Given the description of an element on the screen output the (x, y) to click on. 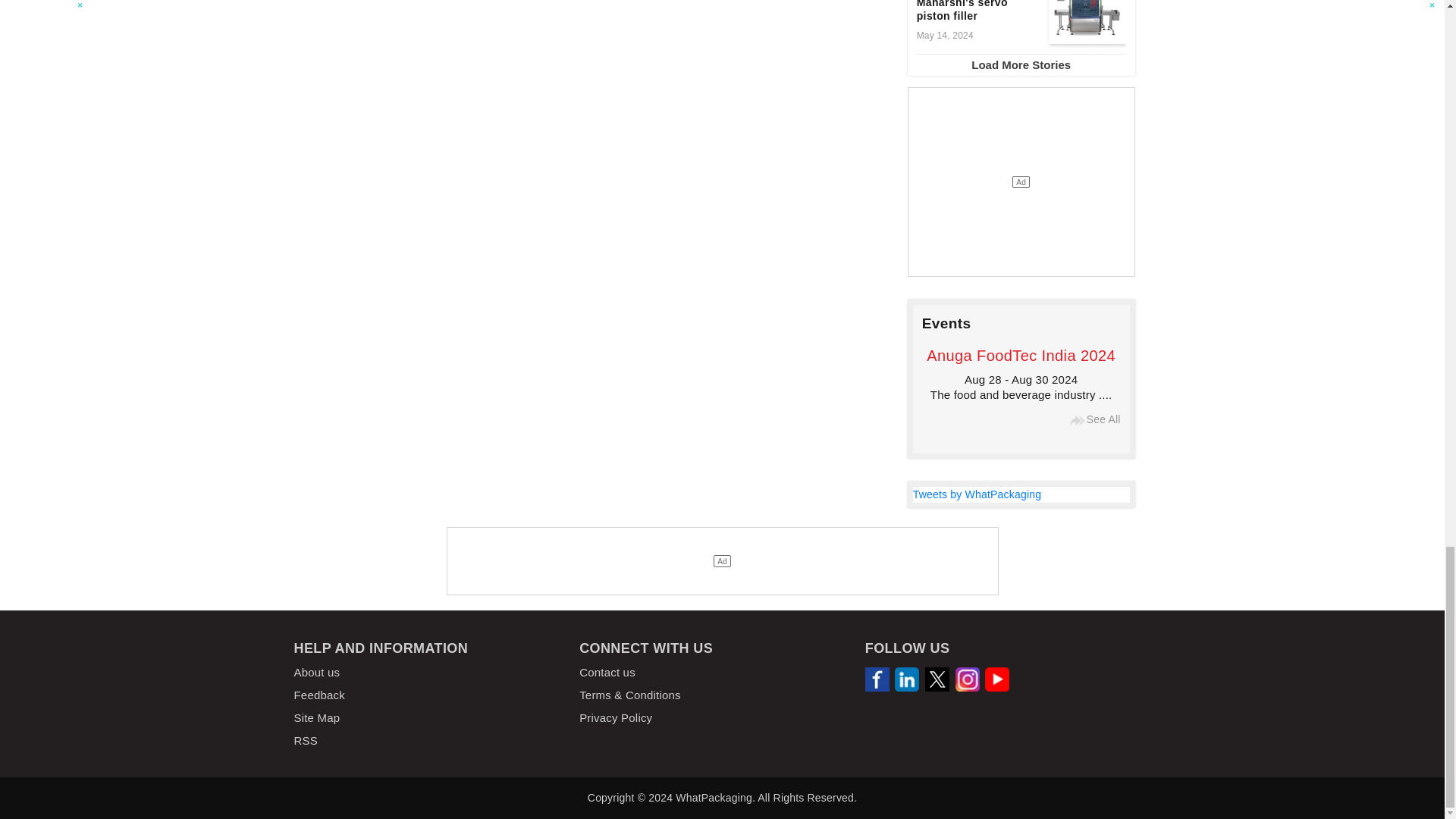
ProductWatch: Maharshi's servo piston filler (1086, 22)
See All (1077, 420)
